Given the description of an element on the screen output the (x, y) to click on. 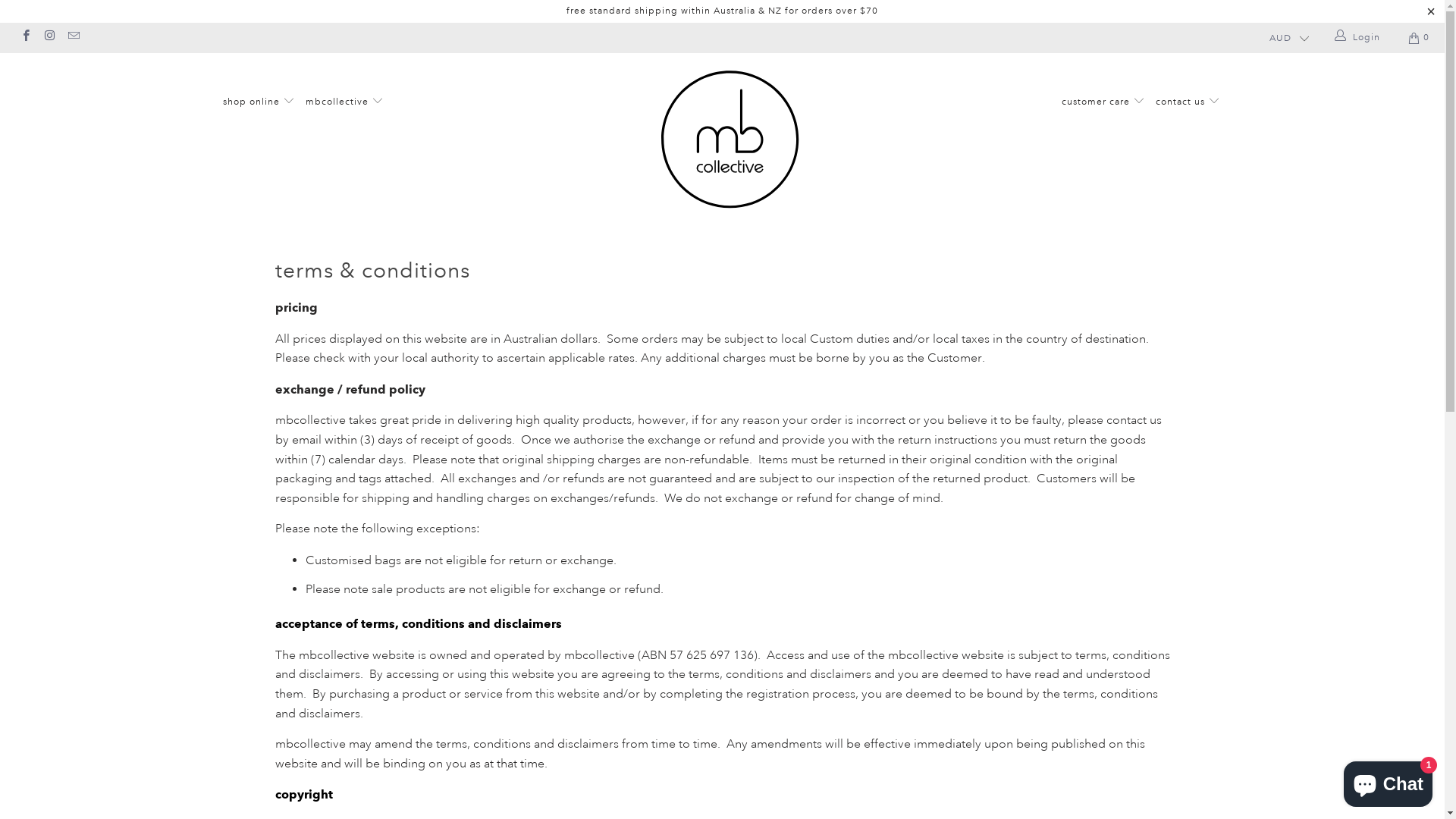
mbcollective Element type: hover (729, 141)
Login Element type: text (1358, 37)
mbcollective Element type: text (344, 102)
contact us Element type: text (1187, 102)
Email mbcollective Element type: hover (72, 37)
Shopify online store chat Element type: hover (1388, 780)
0 Element type: text (1419, 37)
mbcollective on Instagram Element type: hover (48, 37)
shop online Element type: text (258, 102)
mbcollective on Facebook Element type: hover (24, 37)
customer care Element type: text (1103, 102)
